Given the description of an element on the screen output the (x, y) to click on. 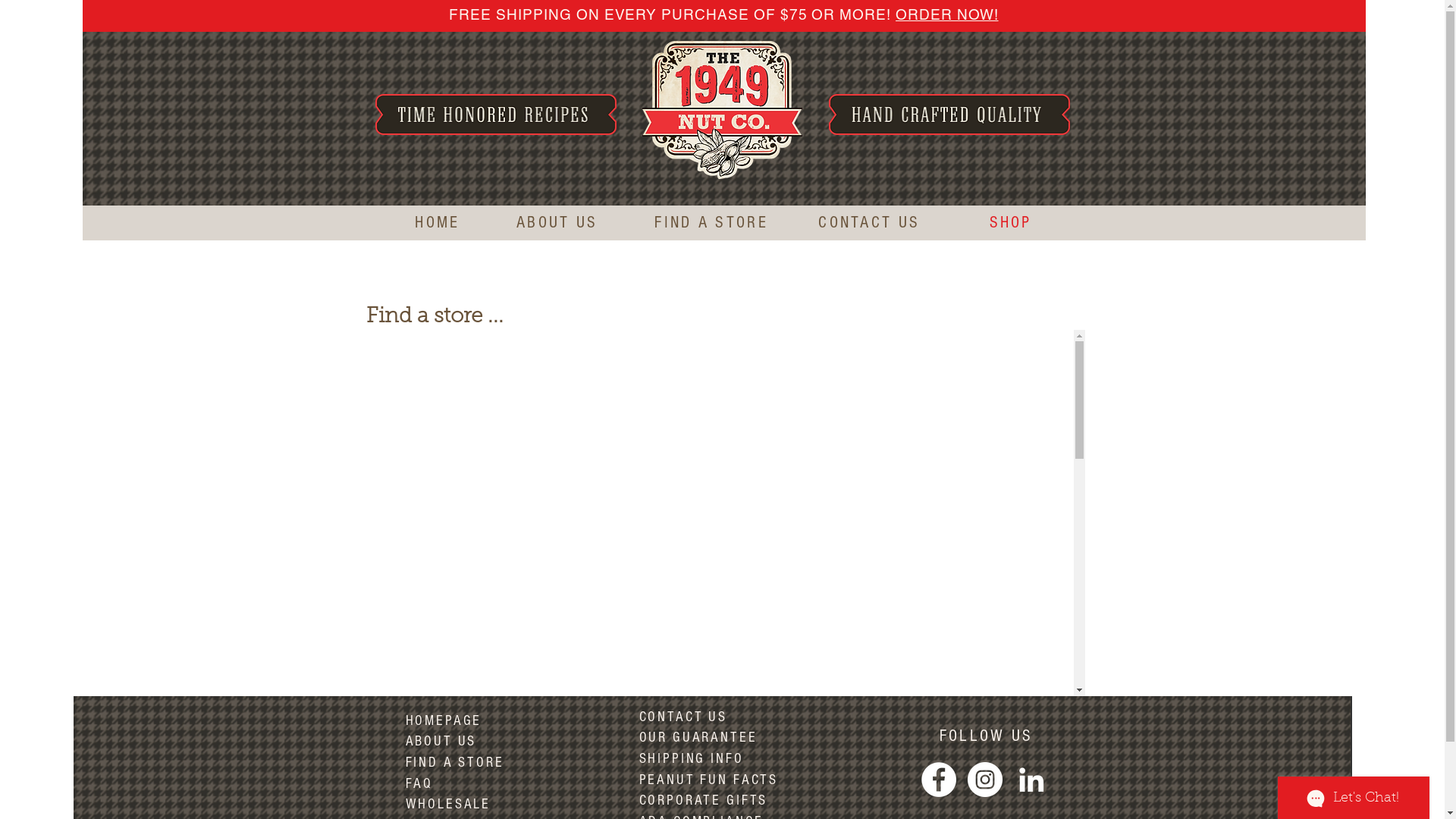
CORPORATE GIFTS Element type: text (702, 800)
SHOP Element type: text (1010, 222)
OUR GUARANTEE Element type: text (697, 737)
Embedded Content Element type: hover (722, 512)
ABOUT US    Element type: text (566, 222)
FAQ Element type: text (418, 783)
HOME Element type: text (436, 222)
FIND A STORE Element type: text (453, 762)
Log In Element type: text (1004, 164)
HOMEPAGE Element type: text (442, 720)
FIND A STORE Element type: text (711, 222)
CONTACT US Element type: text (682, 716)
ABOUT US Element type: text (440, 741)
SHIPPING INFO Element type: text (690, 758)
ORDER NOW! Element type: text (946, 14)
PEANUT FUN FACTS Element type: text (708, 779)
CONTACT US Element type: text (868, 222)
WHOLESALE Element type: text (447, 804)
